Given the description of an element on the screen output the (x, y) to click on. 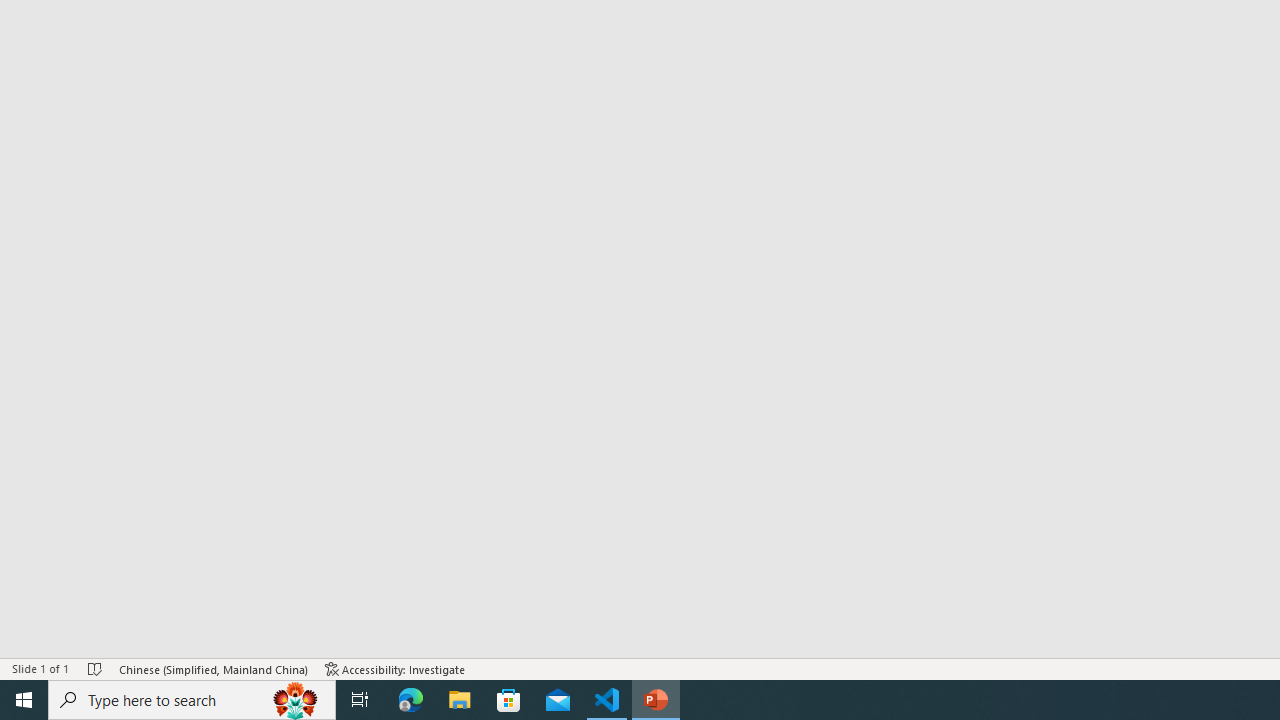
Microsoft Edge (411, 699)
